Given the description of an element on the screen output the (x, y) to click on. 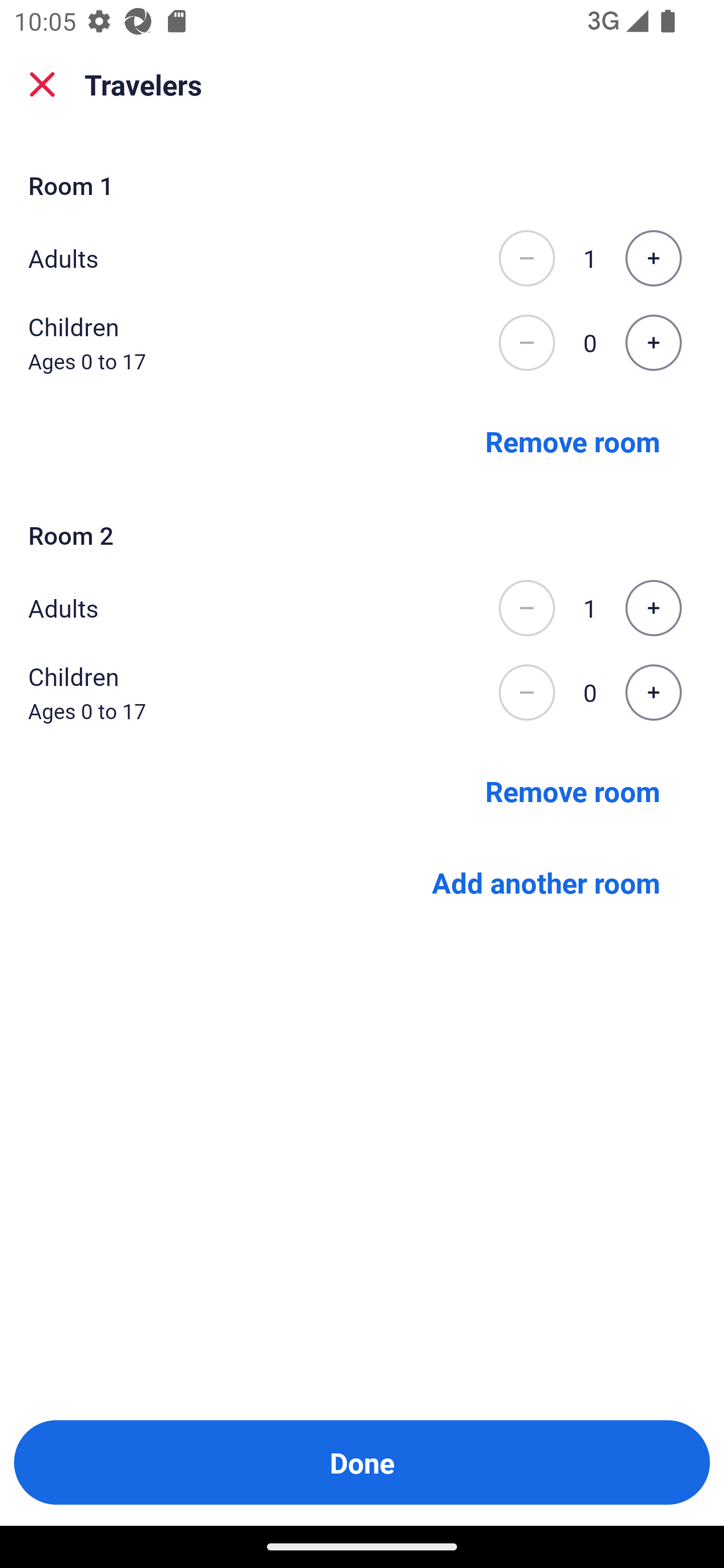
close (42, 84)
Decrease the number of adults (526, 258)
Increase the number of adults (653, 258)
Decrease the number of children (526, 343)
Increase the number of children (653, 343)
Remove room (572, 440)
Decrease the number of adults (526, 608)
Increase the number of adults (653, 608)
Decrease the number of children (526, 692)
Increase the number of children (653, 692)
Remove room (572, 790)
Add another room (545, 882)
Done (361, 1462)
